Given the description of an element on the screen output the (x, y) to click on. 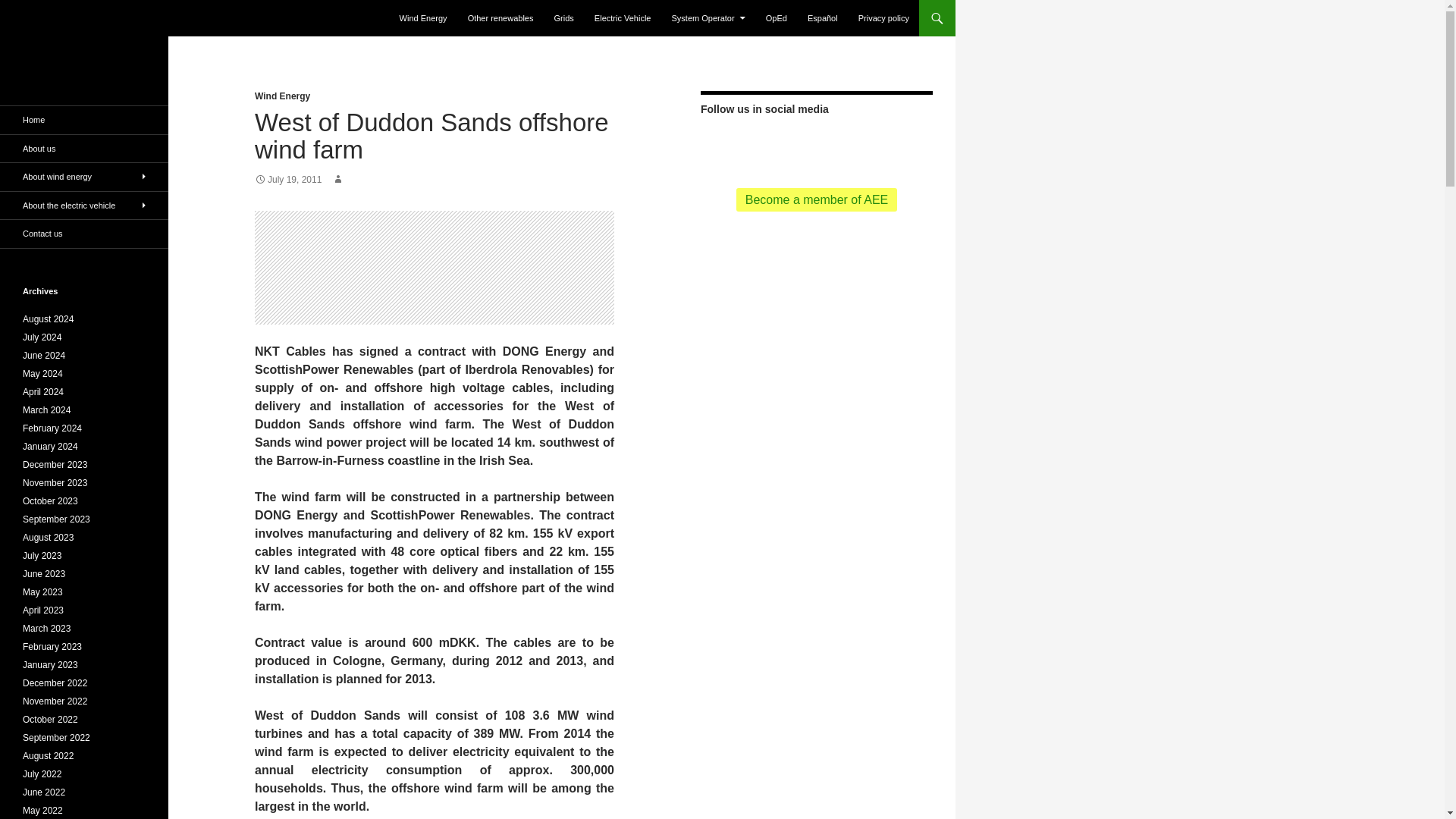
Instagram (889, 143)
facebook (767, 143)
OpEd (776, 18)
RSS (719, 143)
July 19, 2011 (287, 179)
Wind Energy (282, 95)
youtube (792, 143)
Grids (563, 18)
twitter (743, 143)
Privacy policy (883, 18)
